Given the description of an element on the screen output the (x, y) to click on. 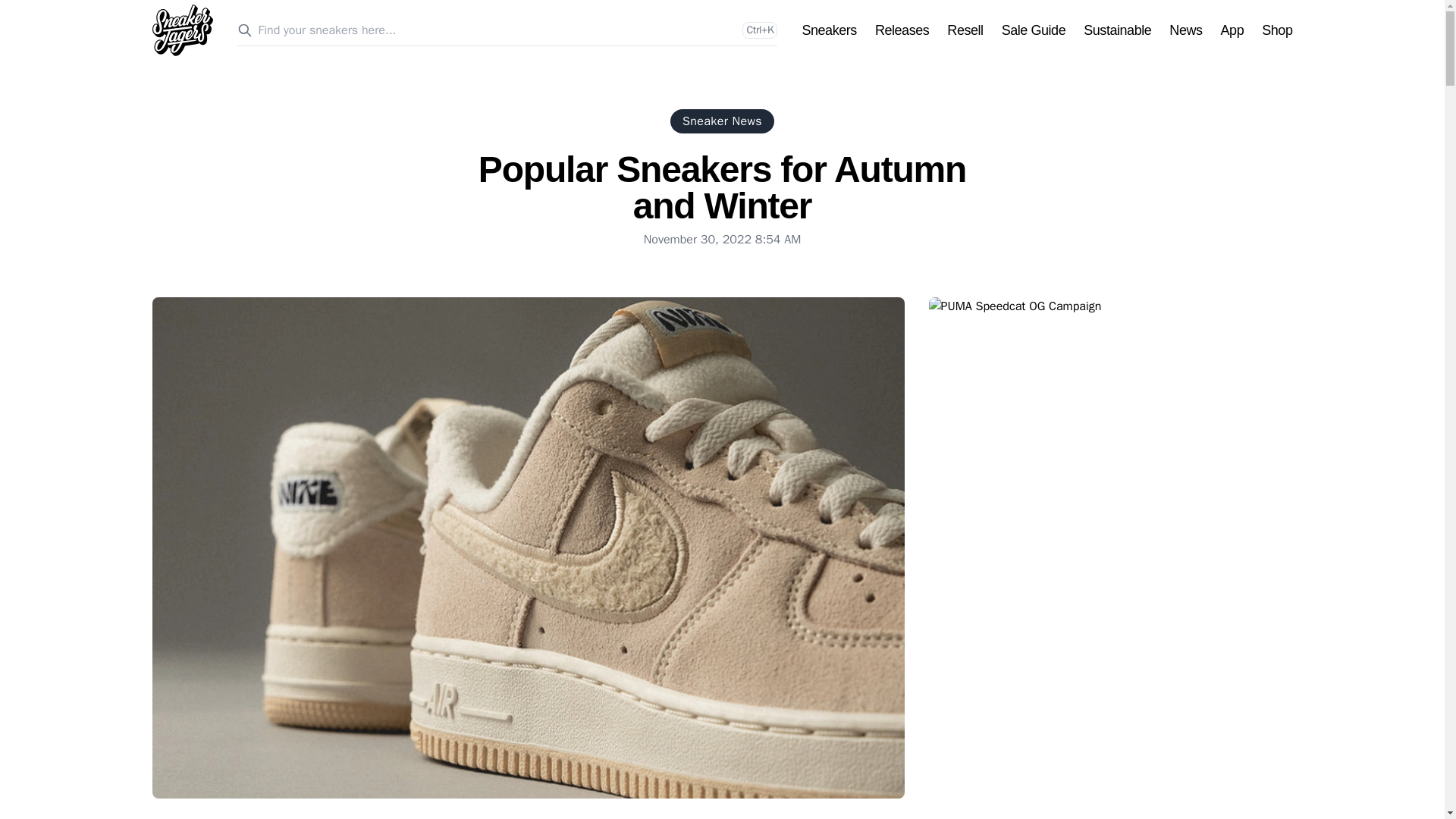
App (1232, 30)
Shop (1277, 30)
News (1185, 30)
Sneaker News (721, 120)
Sneakers (829, 30)
Sustainable (1117, 30)
Sale Guide (1033, 30)
Resell (964, 30)
Releases (901, 30)
